Given the description of an element on the screen output the (x, y) to click on. 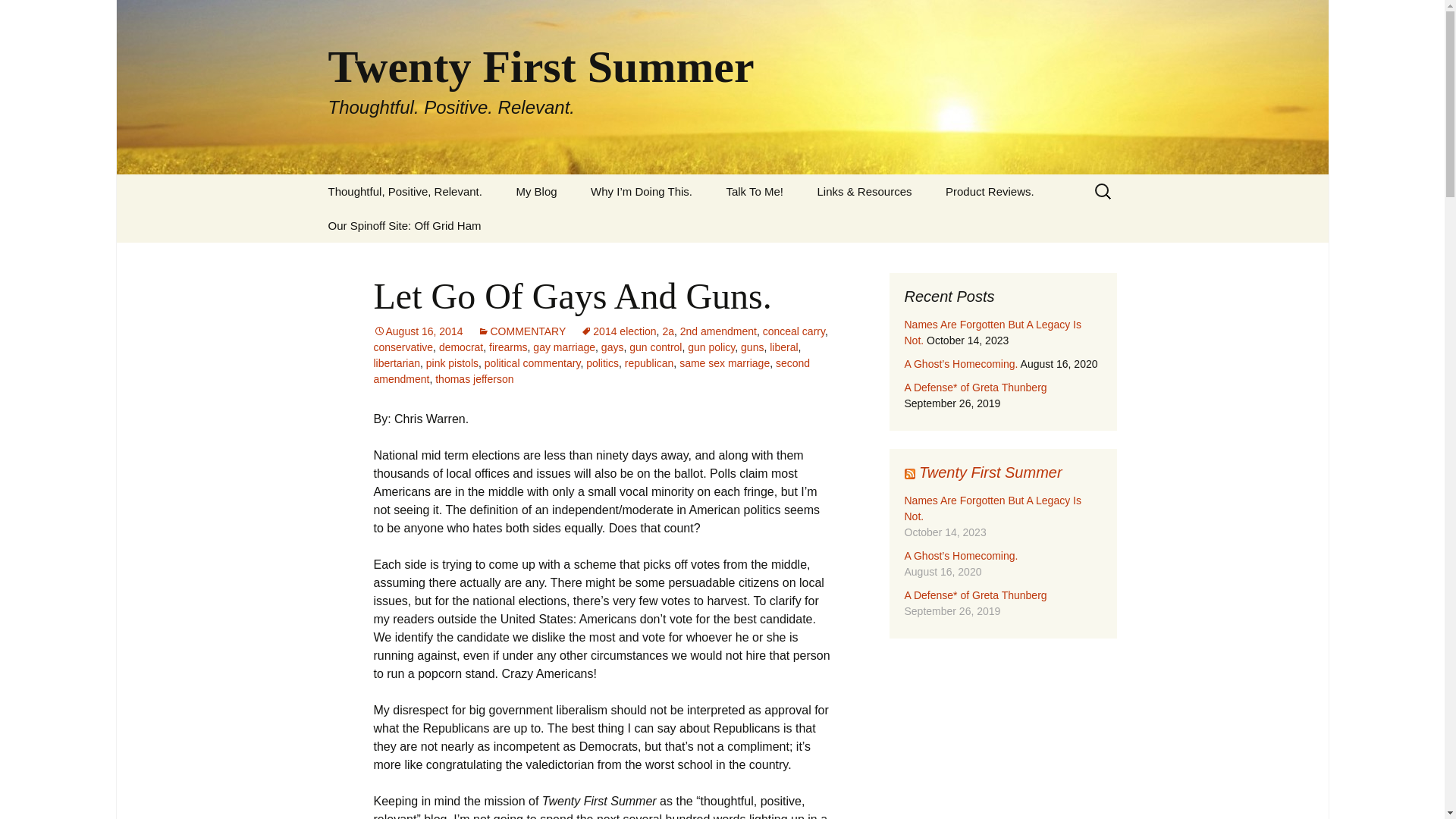
2nd amendment (718, 331)
republican (649, 363)
gun policy (711, 346)
same sex marriage (724, 363)
firearms (508, 346)
second amendment (590, 370)
2014 election (618, 331)
gun control (654, 346)
conservative (402, 346)
My Blog (536, 191)
Talk To Me! (753, 191)
thomas jefferson (474, 378)
August 16, 2014 (417, 331)
2a (668, 331)
democrat (461, 346)
